Given the description of an element on the screen output the (x, y) to click on. 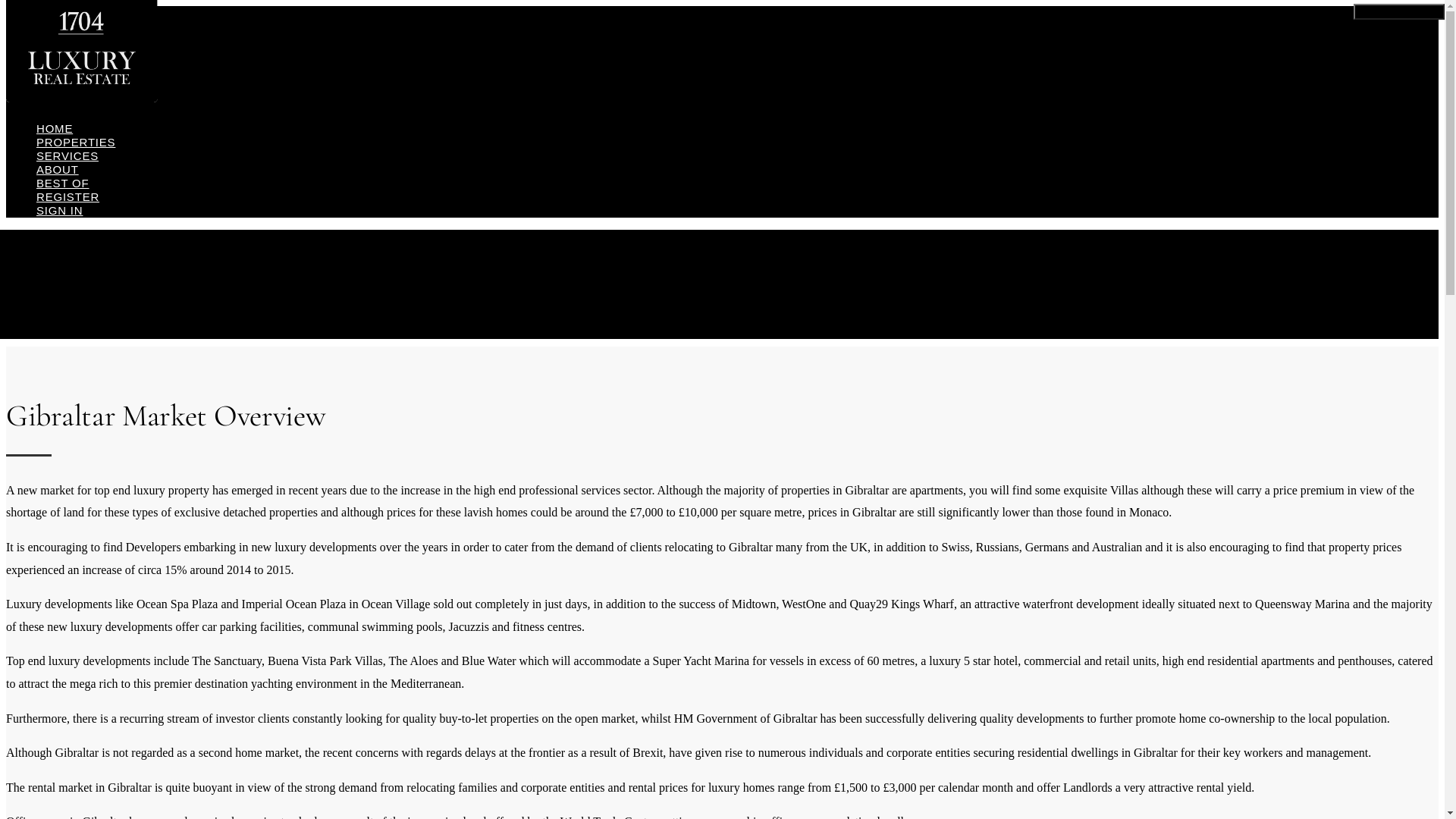
SIGN IN Element type: text (59, 210)
Toggle navigation Element type: text (1398, 11)
Toggle Button Element type: text (1407, 11)
BEST OF Element type: text (62, 183)
PROPERTIES Element type: text (75, 142)
SERVICES Element type: text (67, 155)
ABOUT Element type: text (57, 169)
HOME Element type: text (54, 128)
REGISTER Element type: text (67, 196)
